Given the description of an element on the screen output the (x, y) to click on. 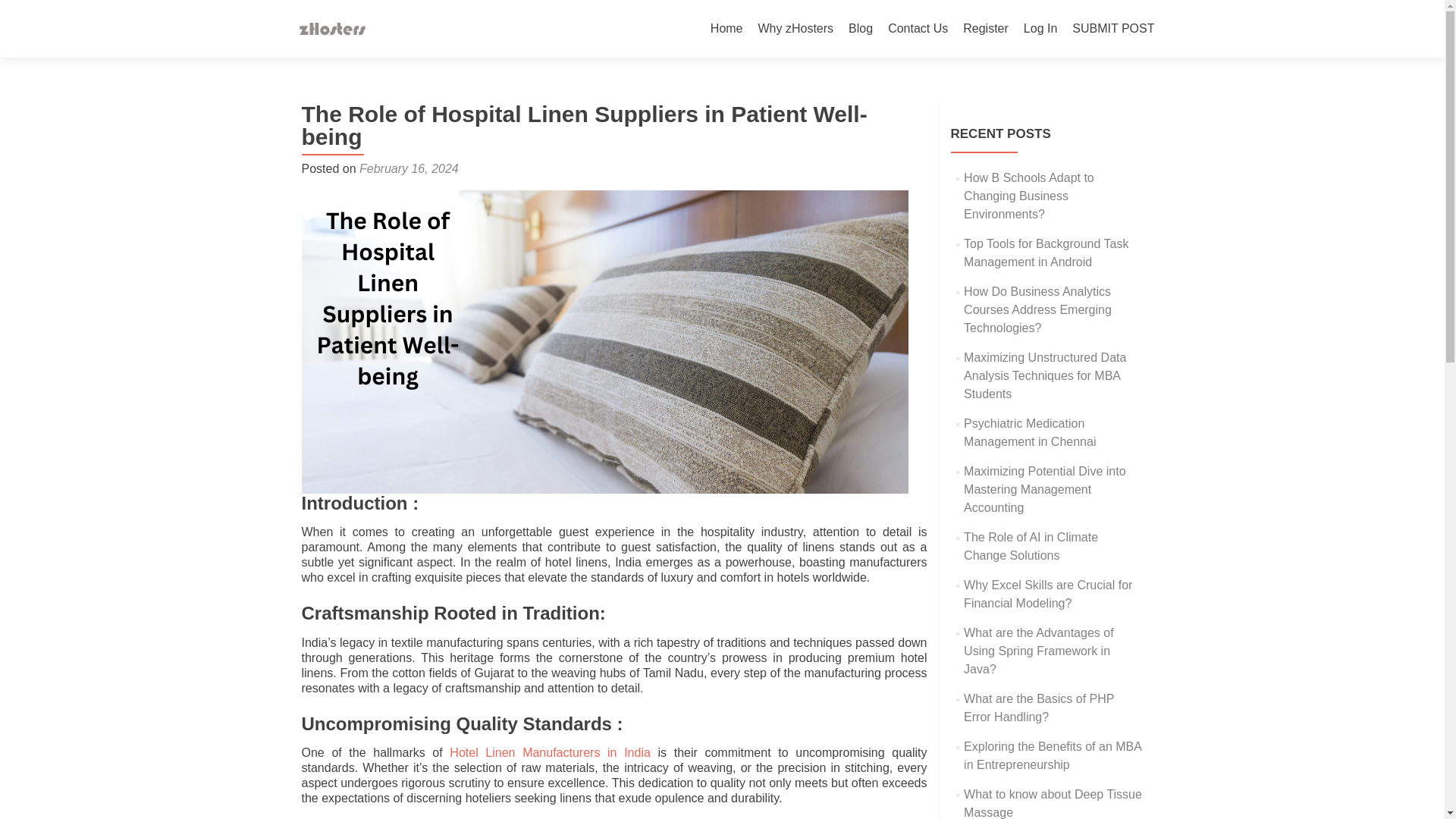
SUBMIT POST (1112, 28)
Log In (1040, 28)
Register (985, 28)
February 16, 2024 (408, 168)
Why zHosters (796, 28)
Psychiatric Medication Management in Chennai (1029, 431)
Blog (860, 28)
Why Excel Skills are Crucial for Financial Modeling? (1047, 593)
What are the Advantages of Using Spring Framework in Java? (1038, 650)
Exploring the Benefits of an MBA in Entrepreneurship (1052, 755)
Hotel Linen Manufacturers in India (549, 752)
What are the Basics of PHP Error Handling? (1038, 707)
The Role of AI in Climate Change Solutions (1030, 545)
